Given the description of an element on the screen output the (x, y) to click on. 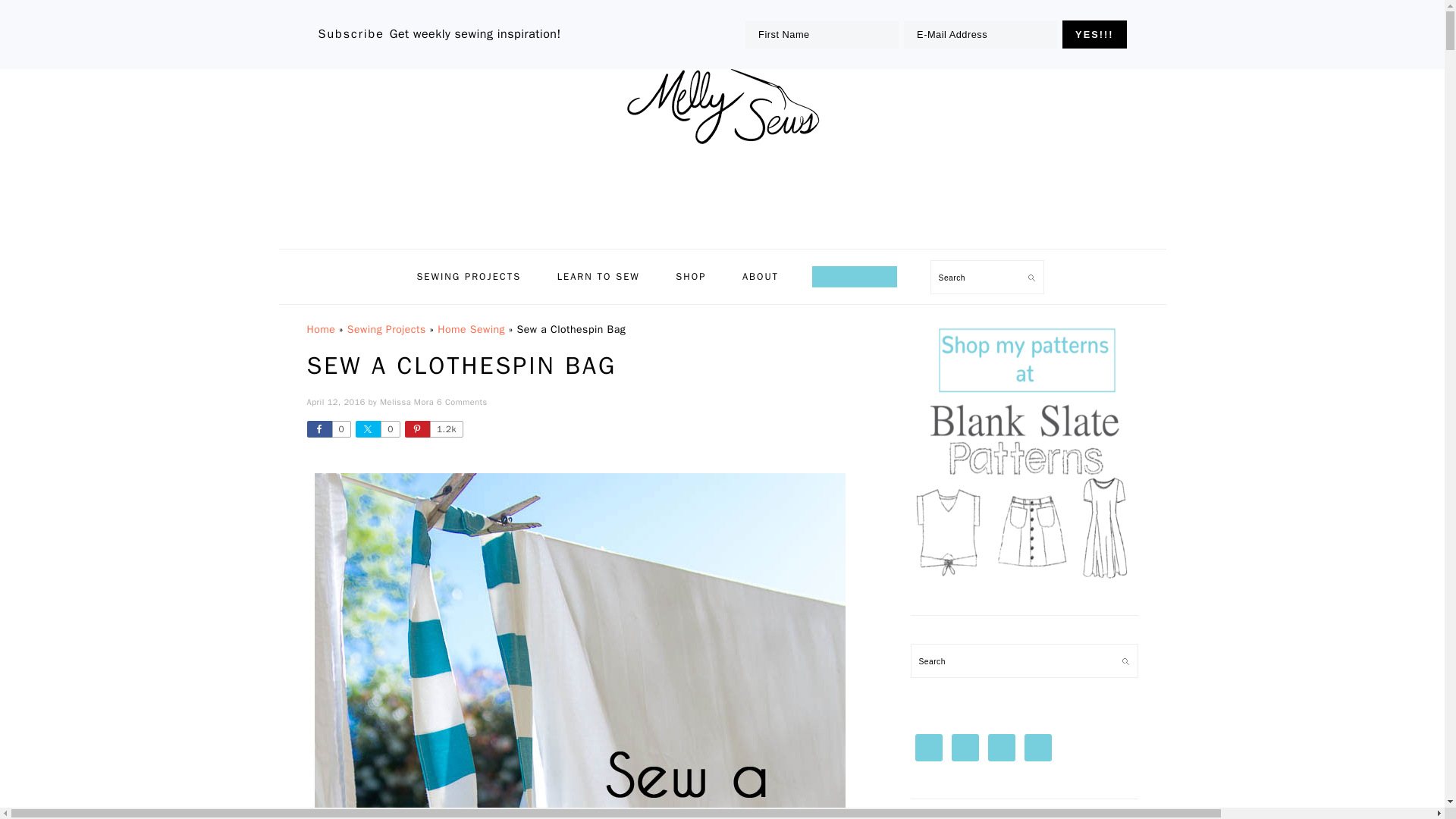
Melly Sews (721, 106)
Yes!!! (1093, 34)
Melly Sews (721, 148)
ABOUT (760, 276)
LEARN TO SEW (598, 276)
SEWING PROJECTS (468, 276)
Share on Facebook (327, 428)
Home (319, 328)
Share on Twitter (376, 428)
